Given the description of an element on the screen output the (x, y) to click on. 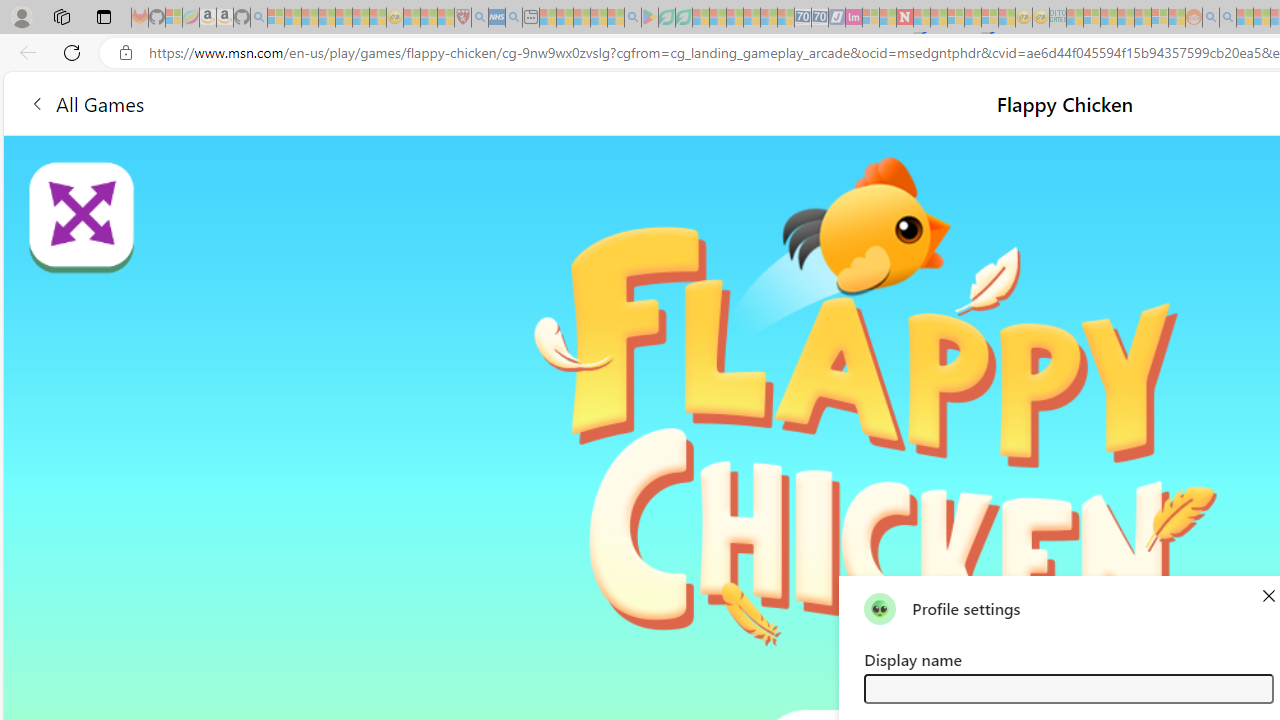
Bluey: Let's Play! - Apps on Google Play - Sleeping (649, 17)
Pets - MSN - Sleeping (598, 17)
All Games (86, 102)
Terms of Use Agreement - Sleeping (666, 17)
Local - MSN - Sleeping (445, 17)
Jobs - lastminute.com Investor Portal - Sleeping (853, 17)
